Given the description of an element on the screen output the (x, y) to click on. 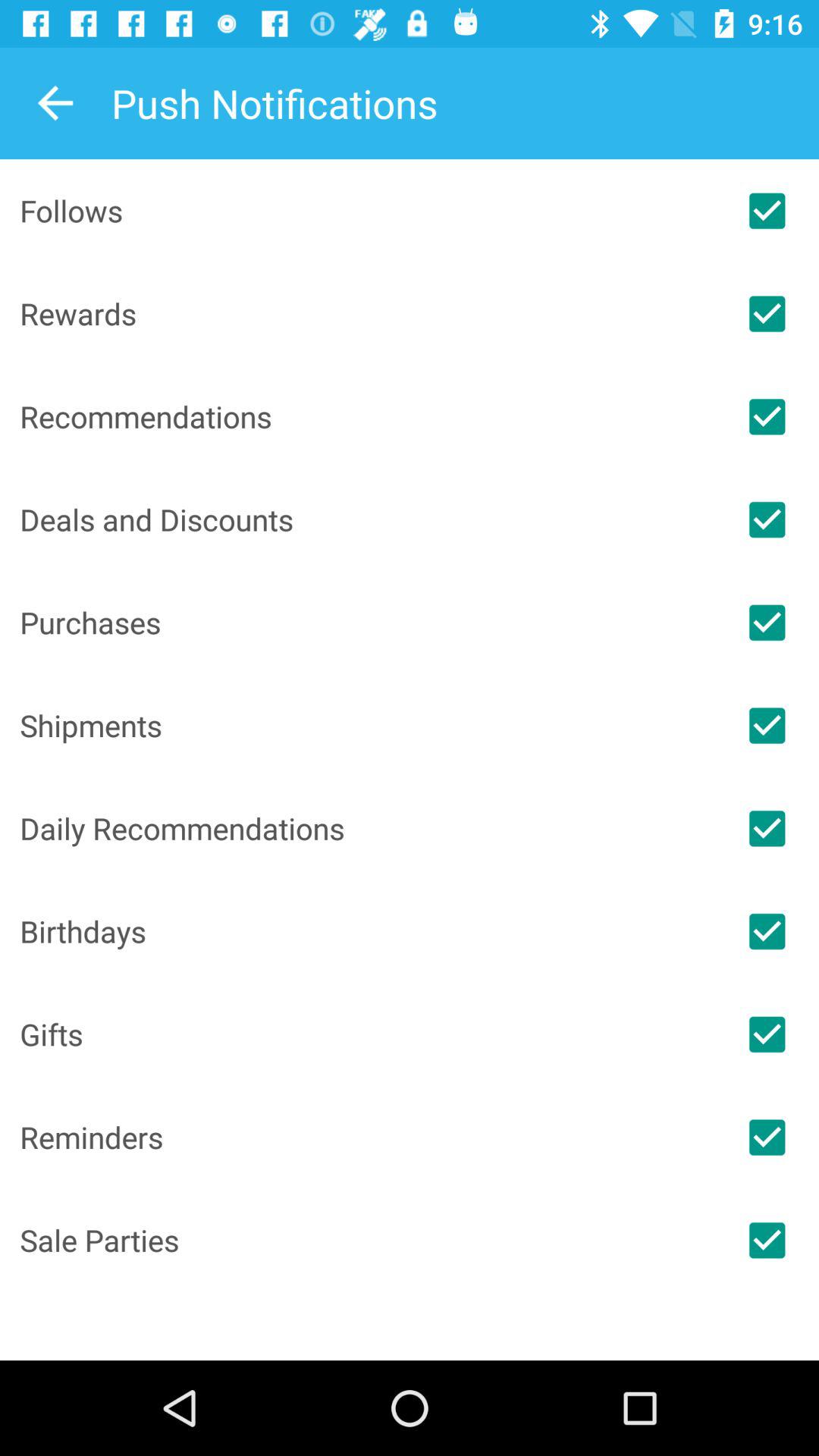
toggle push notifications for category (767, 828)
